Given the description of an element on the screen output the (x, y) to click on. 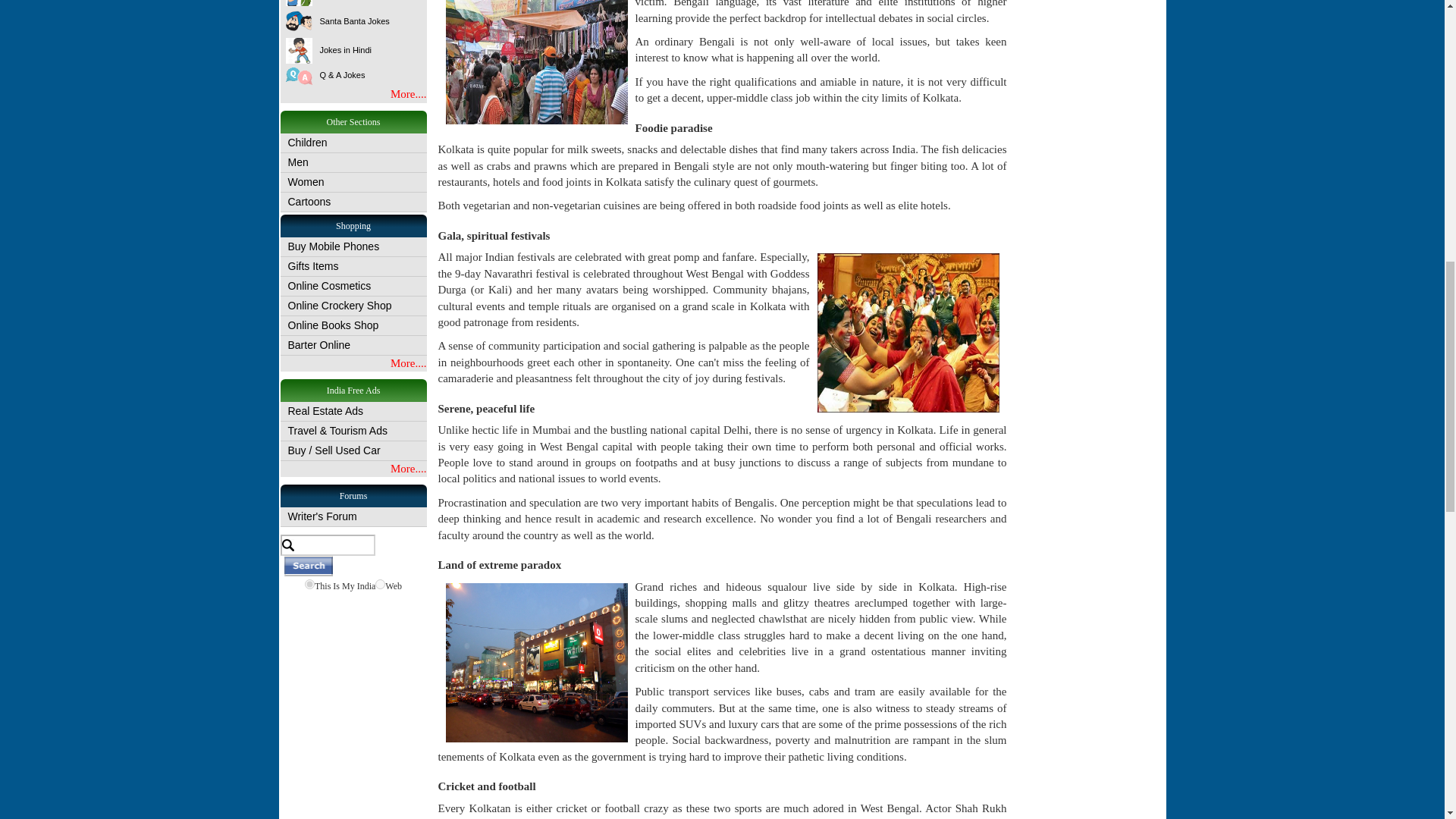
thisismyindia.com (309, 583)
